Given the description of an element on the screen output the (x, y) to click on. 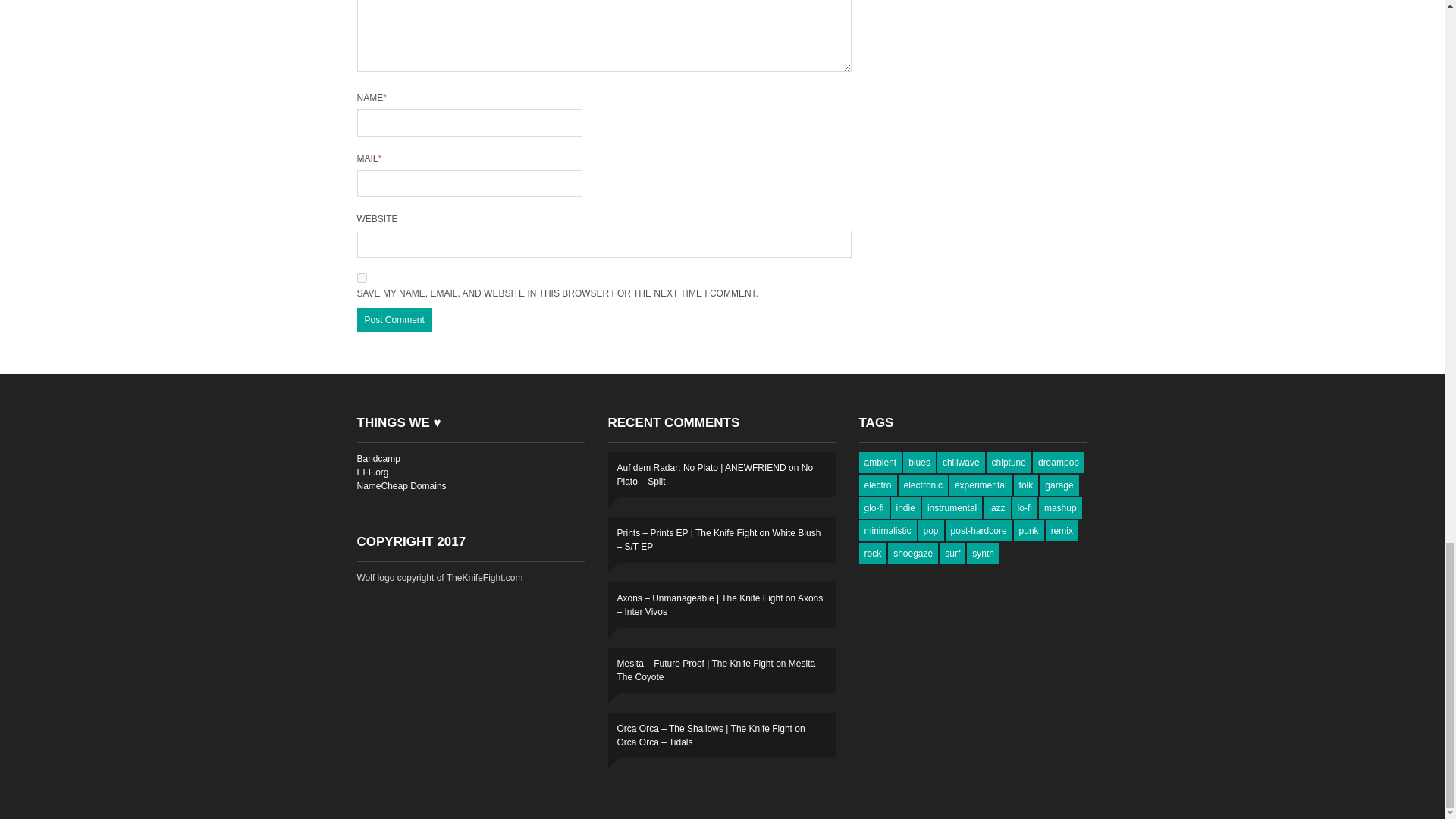
NameCheap Domains (400, 485)
Defending Your Rights In The Digital World (372, 471)
Bandcamp (377, 458)
Post Comment (393, 319)
Our favorite place to discover artists! (377, 458)
EFF.org (372, 471)
yes (361, 277)
Forget GoDaddy! (400, 485)
Post Comment (393, 319)
